Given the description of an element on the screen output the (x, y) to click on. 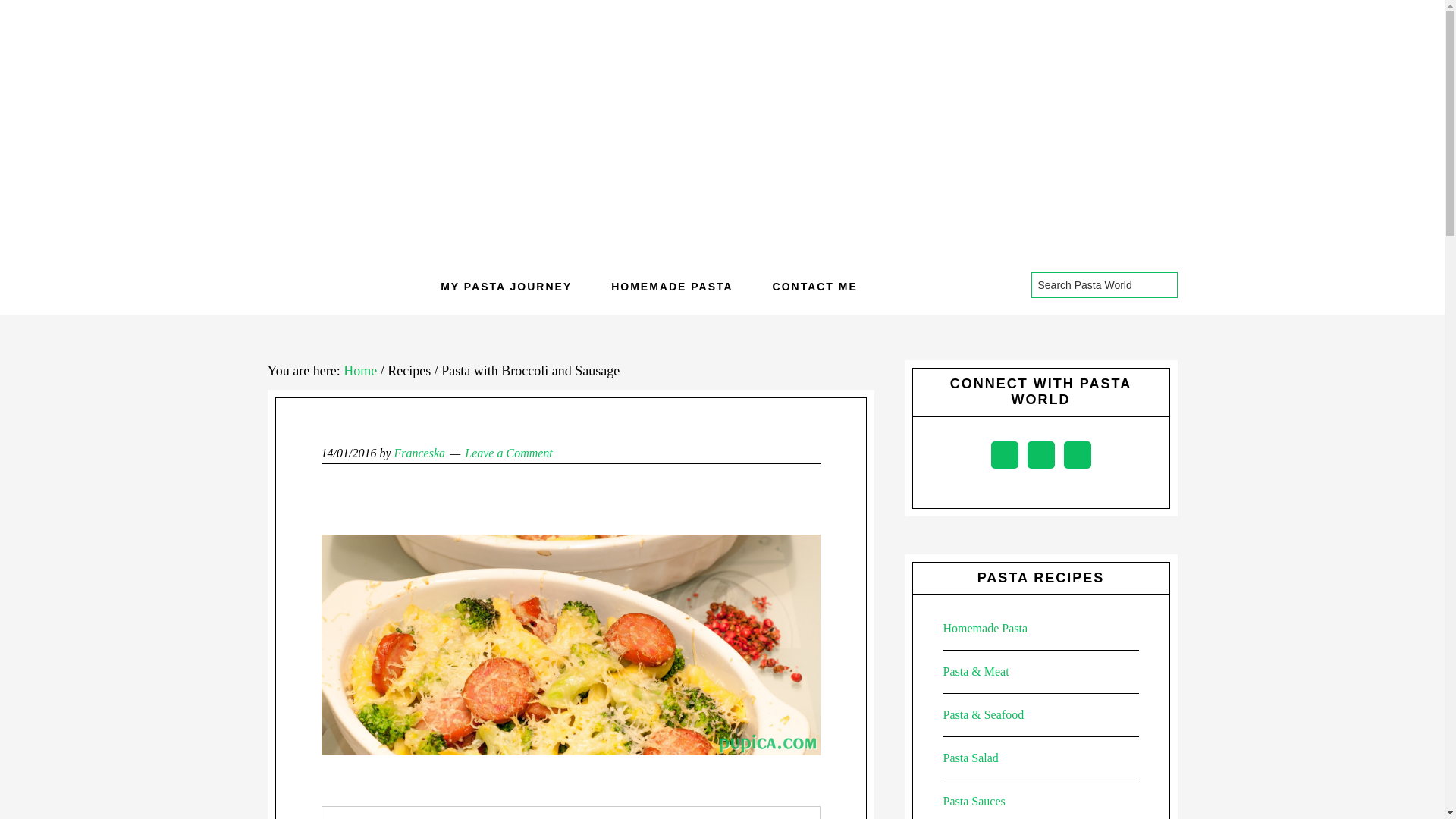
PASTA WORLD (722, 114)
HOMEMADE PASTA (671, 286)
MY PASTA JOURNEY (505, 286)
CONTACT ME (815, 286)
Pasta Sauces (974, 800)
Contact Pasta World (815, 286)
My Pasta Recipes (505, 286)
Making fresh pasta at home (671, 286)
Pasta Salad (970, 757)
Homemade Pasta (985, 627)
Home (360, 370)
Franceska (419, 452)
